Given the description of an element on the screen output the (x, y) to click on. 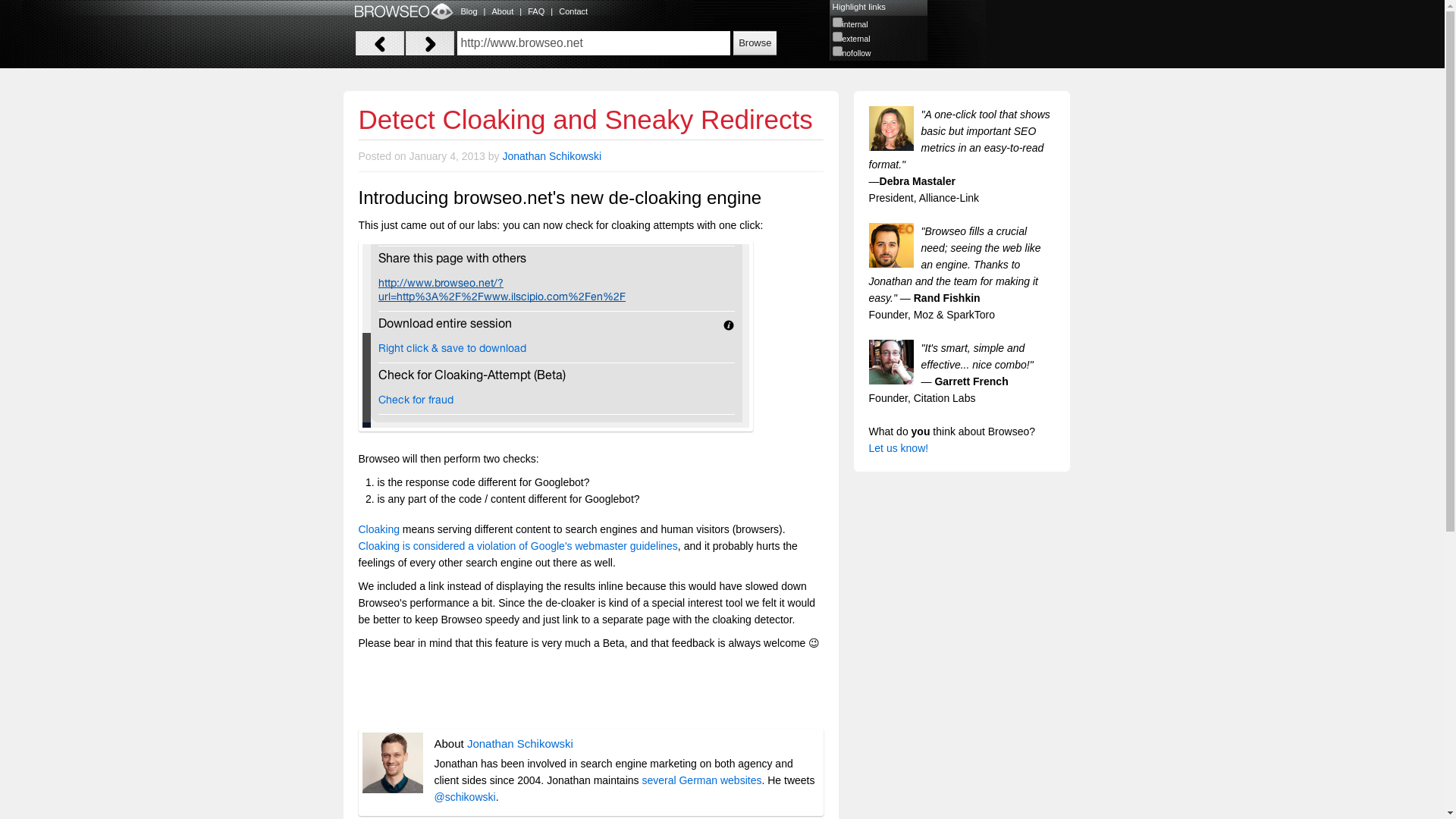
About (502, 10)
on (837, 50)
FAQ (535, 10)
Blog (469, 10)
Posts by Jonathan Schikowski (520, 743)
on (837, 36)
Browse (754, 42)
Jonathan Schikowski (520, 743)
Submit Search (754, 42)
on (837, 22)
